Given the description of an element on the screen output the (x, y) to click on. 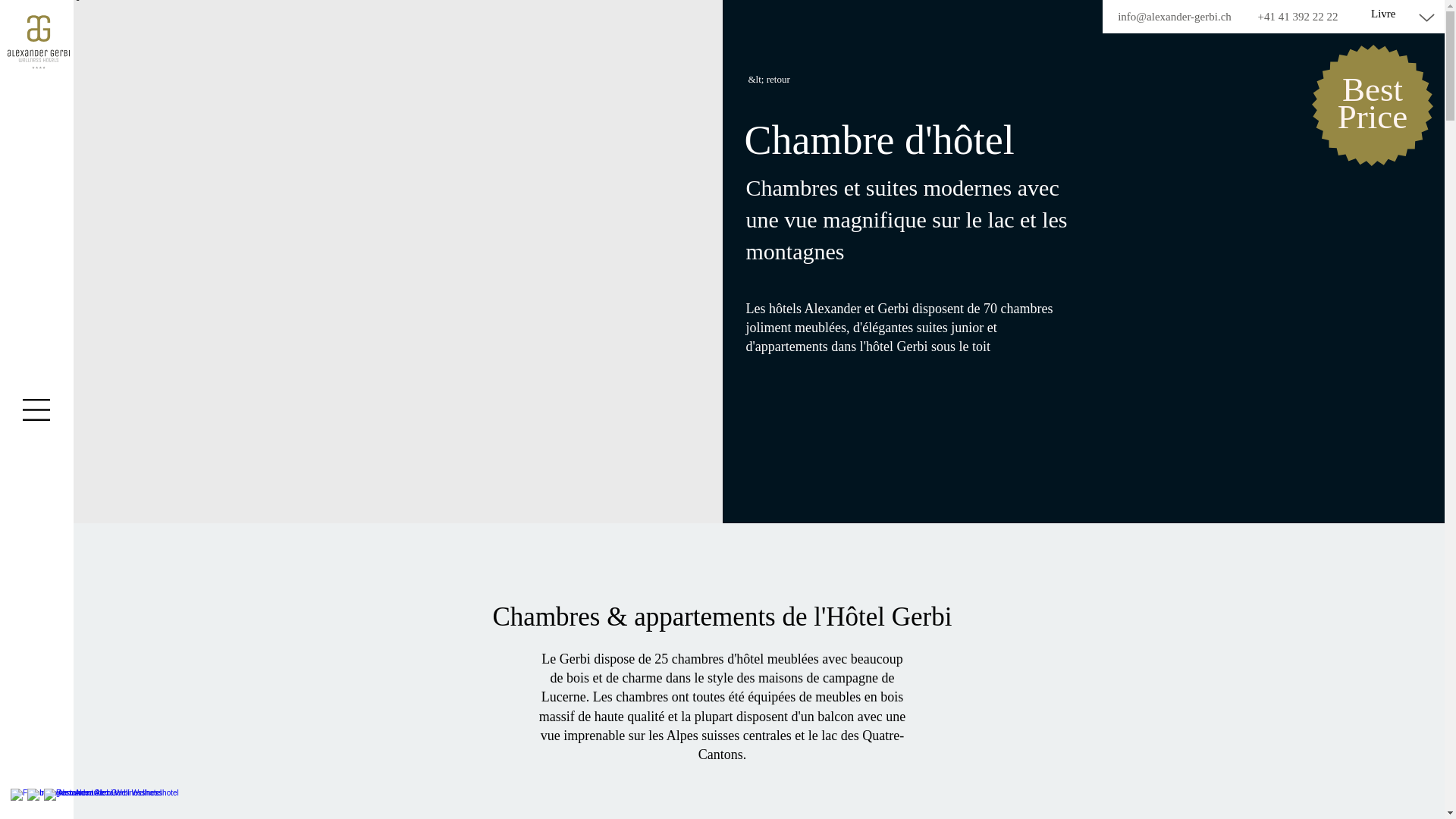
+41 41 392 22 22 Element type: text (1297, 16)
info@alexander-gerbi.ch Element type: text (1174, 16)
Best Price Element type: text (1372, 102)
